Given the description of an element on the screen output the (x, y) to click on. 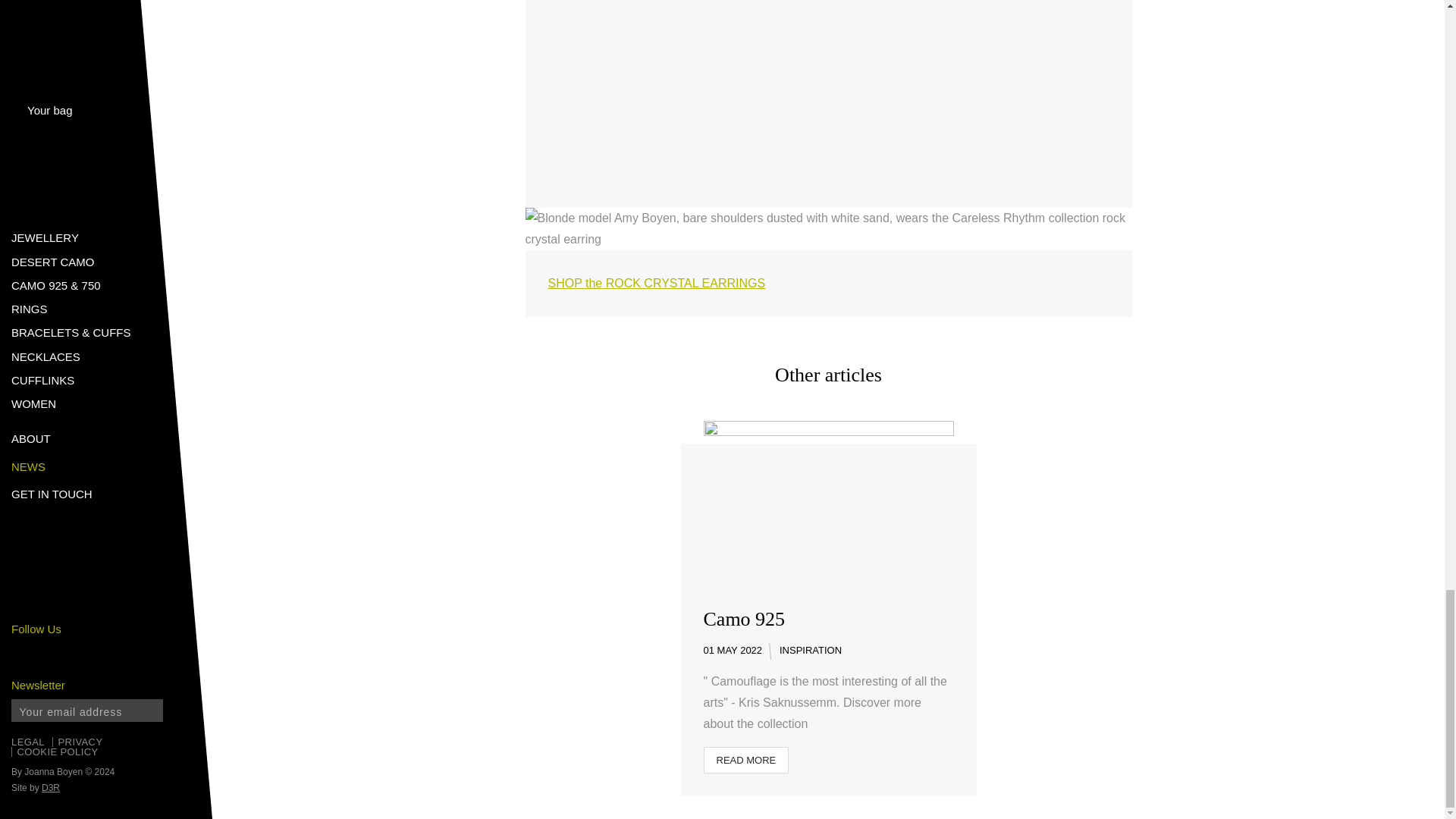
INSPIRATION (809, 651)
Camo 925 (744, 618)
SHOP the ROCK CRYSTAL EARRINGS (656, 282)
READ MORE (746, 759)
